Given the description of an element on the screen output the (x, y) to click on. 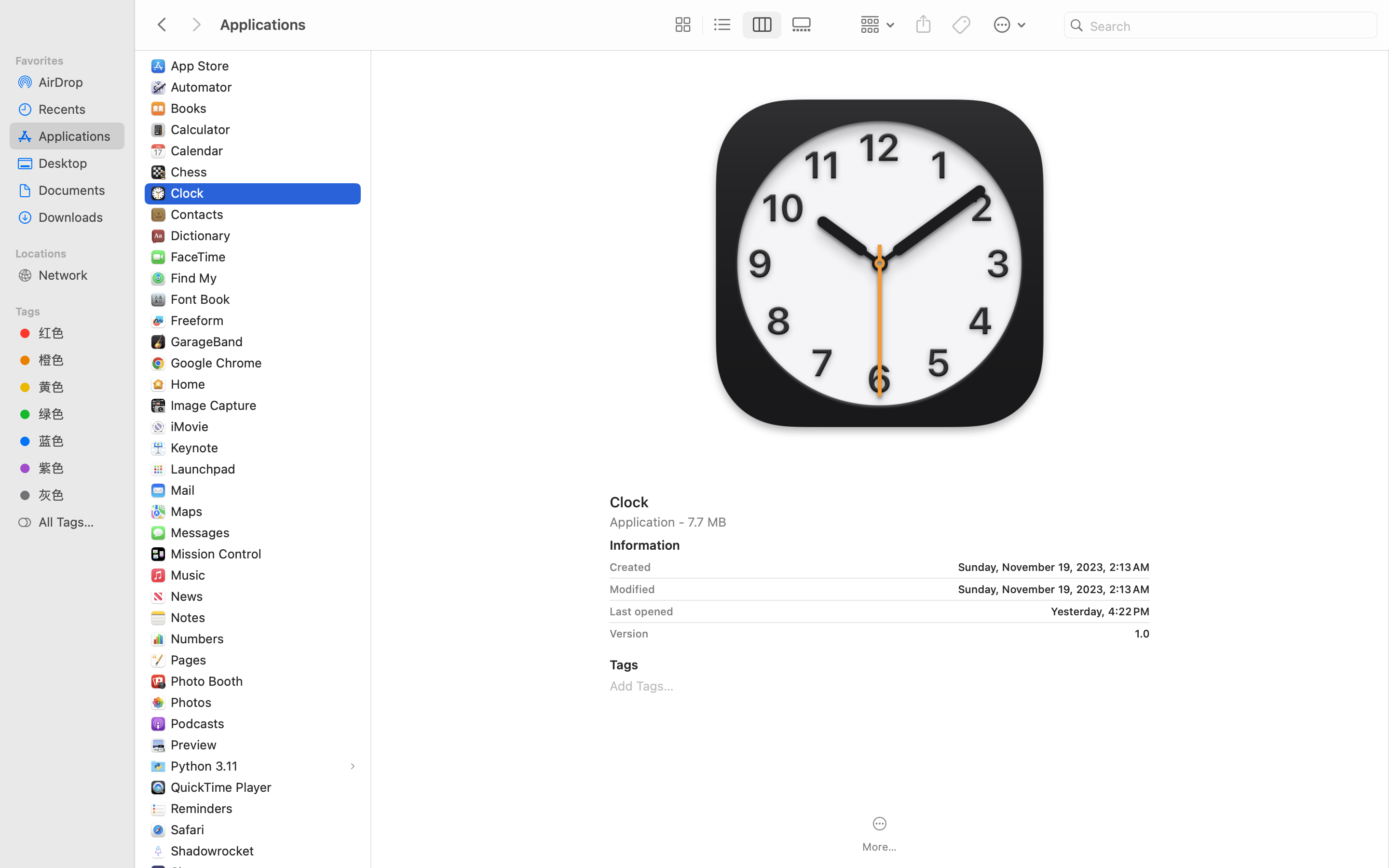
All Tags… Element type: AXStaticText (77, 521)
FaceTime Element type: AXTextField (200, 256)
Desktop Element type: AXStaticText (77, 162)
0 Element type: AXRadioButton (680, 24)
红色 Element type: AXStaticText (77, 332)
